Given the description of an element on the screen output the (x, y) to click on. 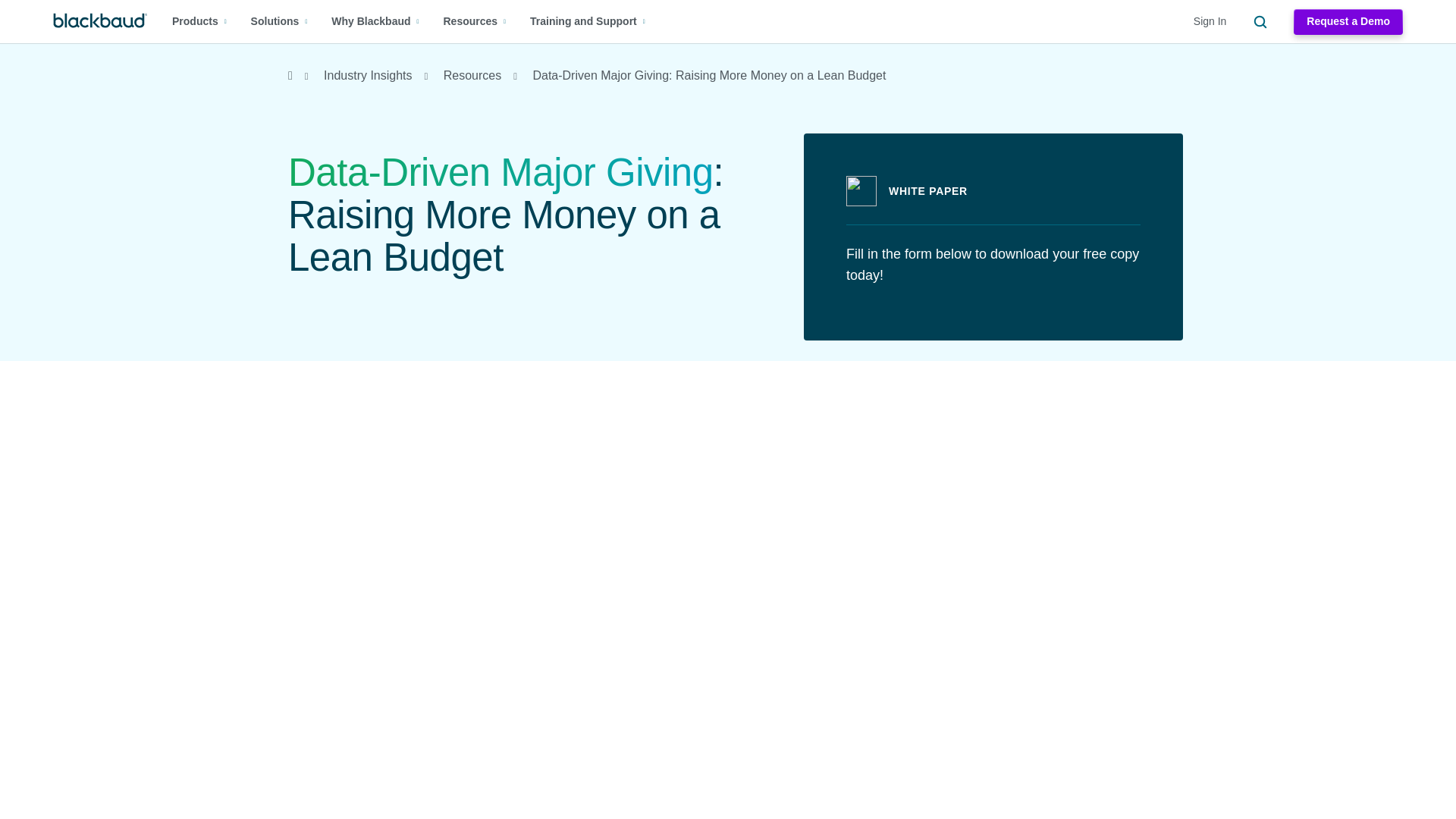
Why Blackbaud (375, 21)
Solutions (278, 21)
Products (199, 21)
